Given the description of an element on the screen output the (x, y) to click on. 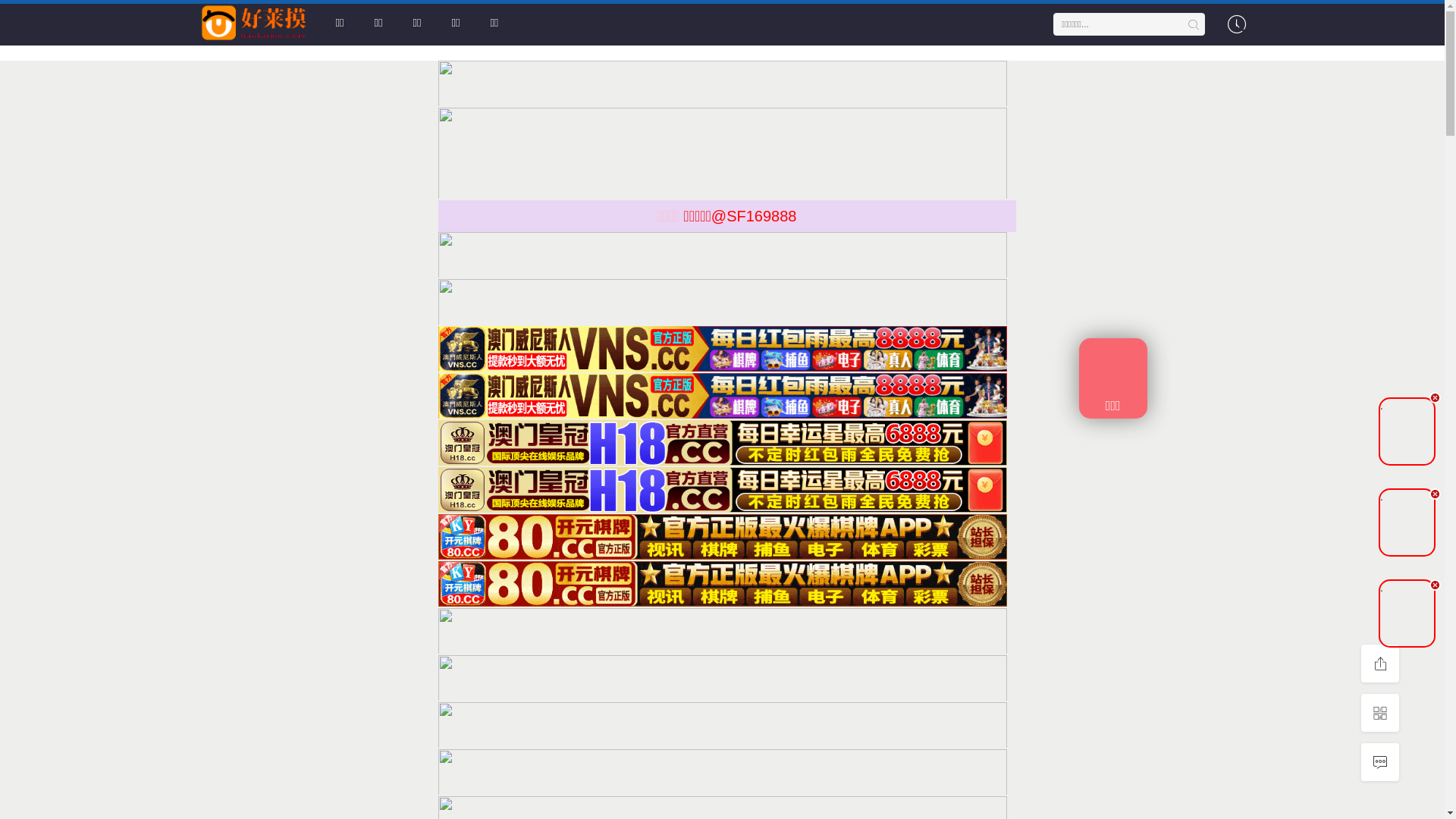
. Element type: text (1407, 431)
. Element type: text (1407, 613)
. Element type: text (1407, 522)
